Given the description of an element on the screen output the (x, y) to click on. 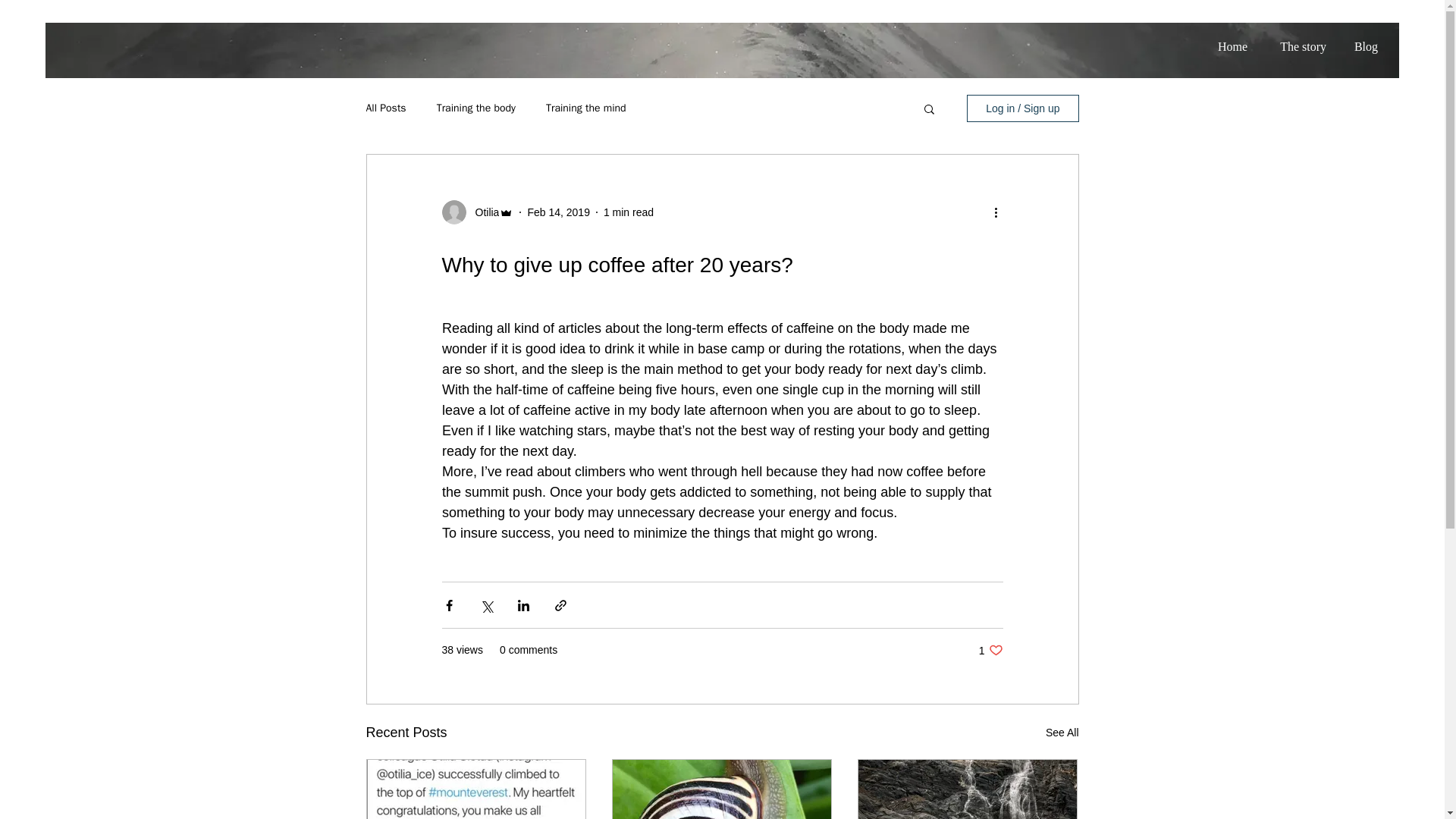
All Posts (385, 108)
Training the body (475, 108)
Training the mind (586, 108)
1 min read (628, 212)
Blog (1365, 39)
Home (1230, 39)
Feb 14, 2019 (558, 212)
The story (990, 649)
Otilia (1299, 39)
See All (482, 212)
